Given the description of an element on the screen output the (x, y) to click on. 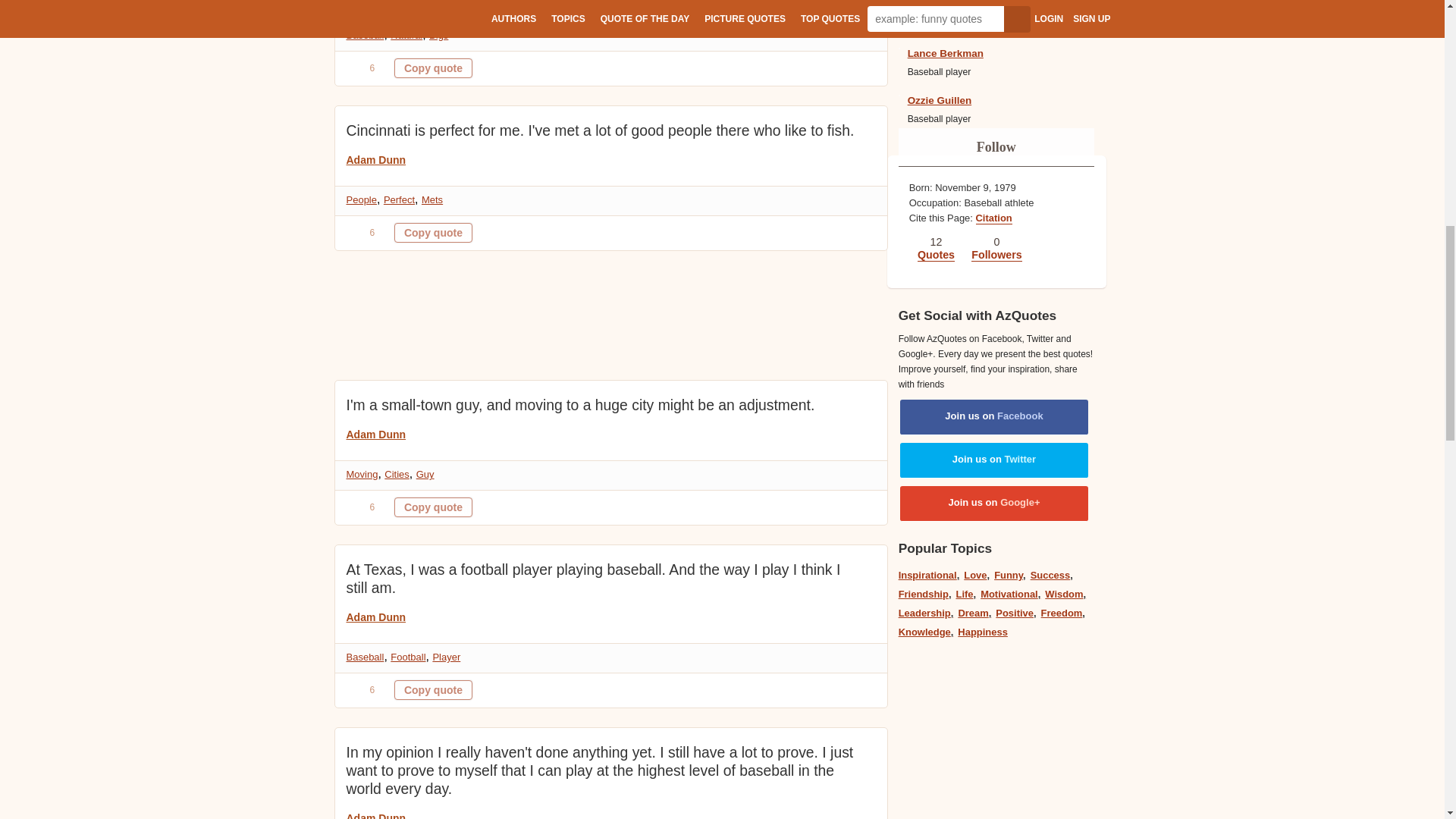
Quote is copied (432, 506)
Quote is copied (432, 67)
Quote is copied (432, 690)
Quote is copied (432, 232)
